Given the description of an element on the screen output the (x, y) to click on. 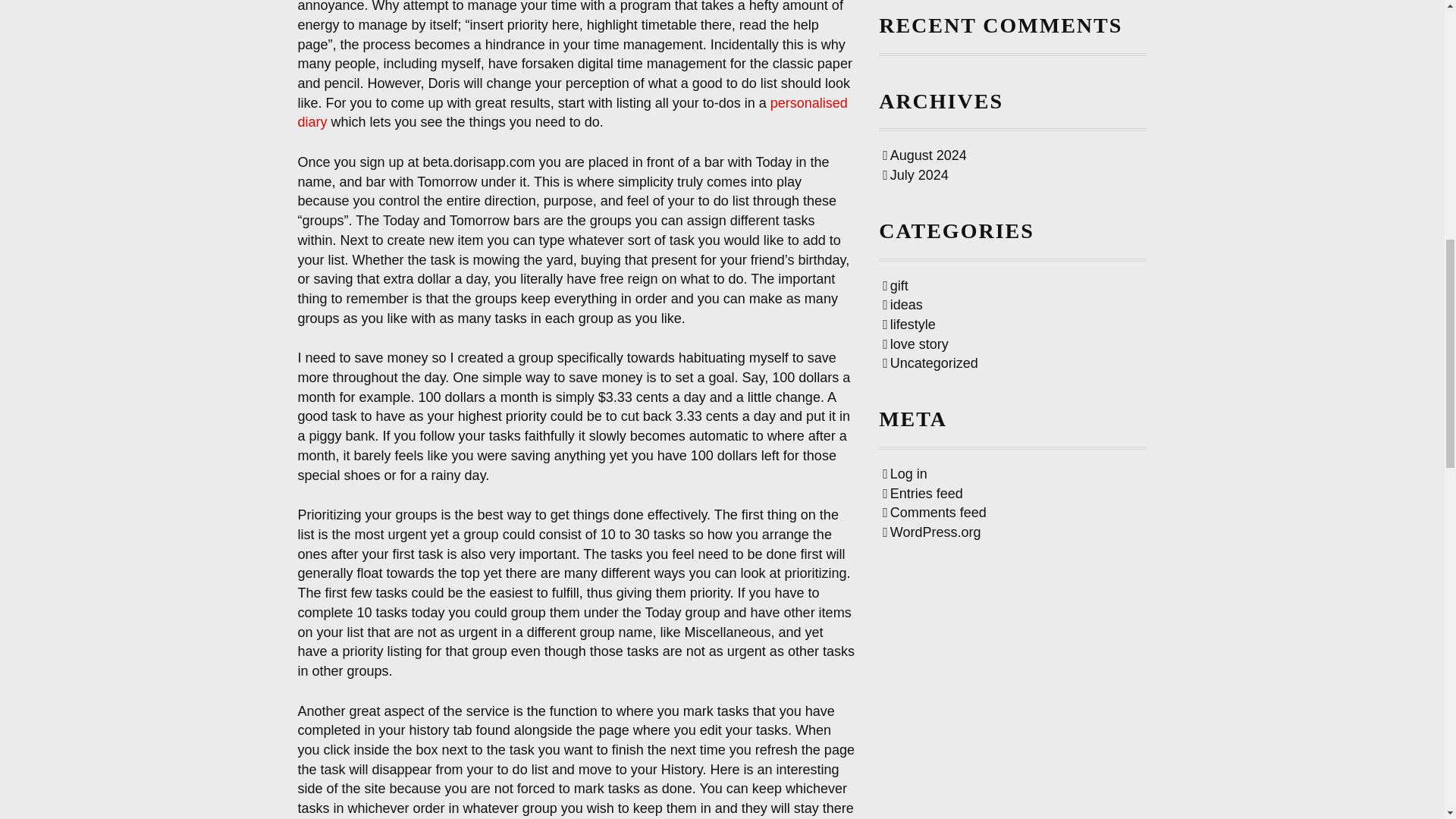
ideas (902, 304)
love story (915, 344)
Comments feed (934, 512)
Log in (904, 473)
lifestyle (909, 324)
personalised diary (572, 112)
Uncategorized (930, 363)
Entries feed (922, 493)
gift (895, 284)
WordPress.org (930, 531)
